Given the description of an element on the screen output the (x, y) to click on. 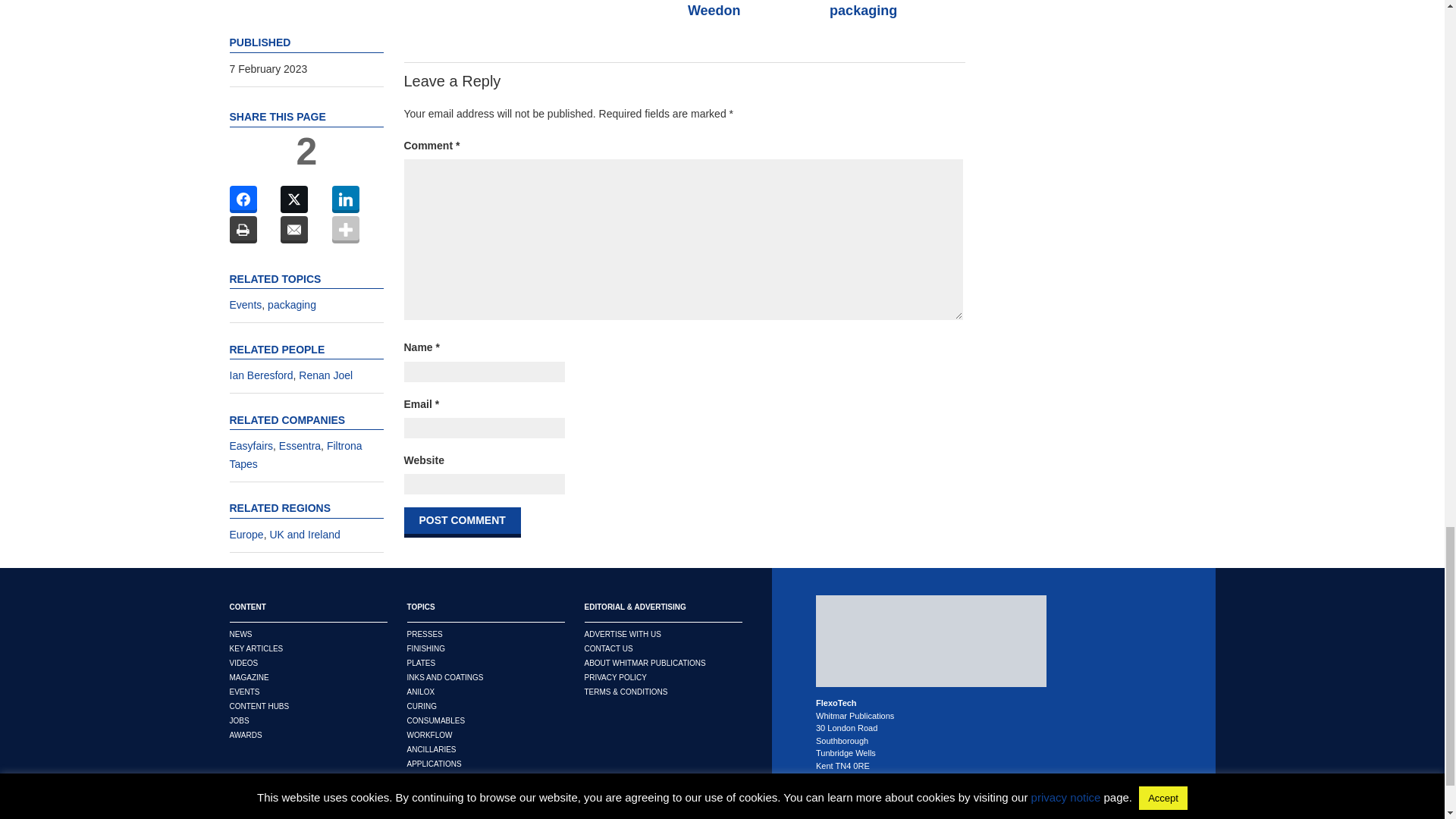
Post Comment (461, 521)
